Given the description of an element on the screen output the (x, y) to click on. 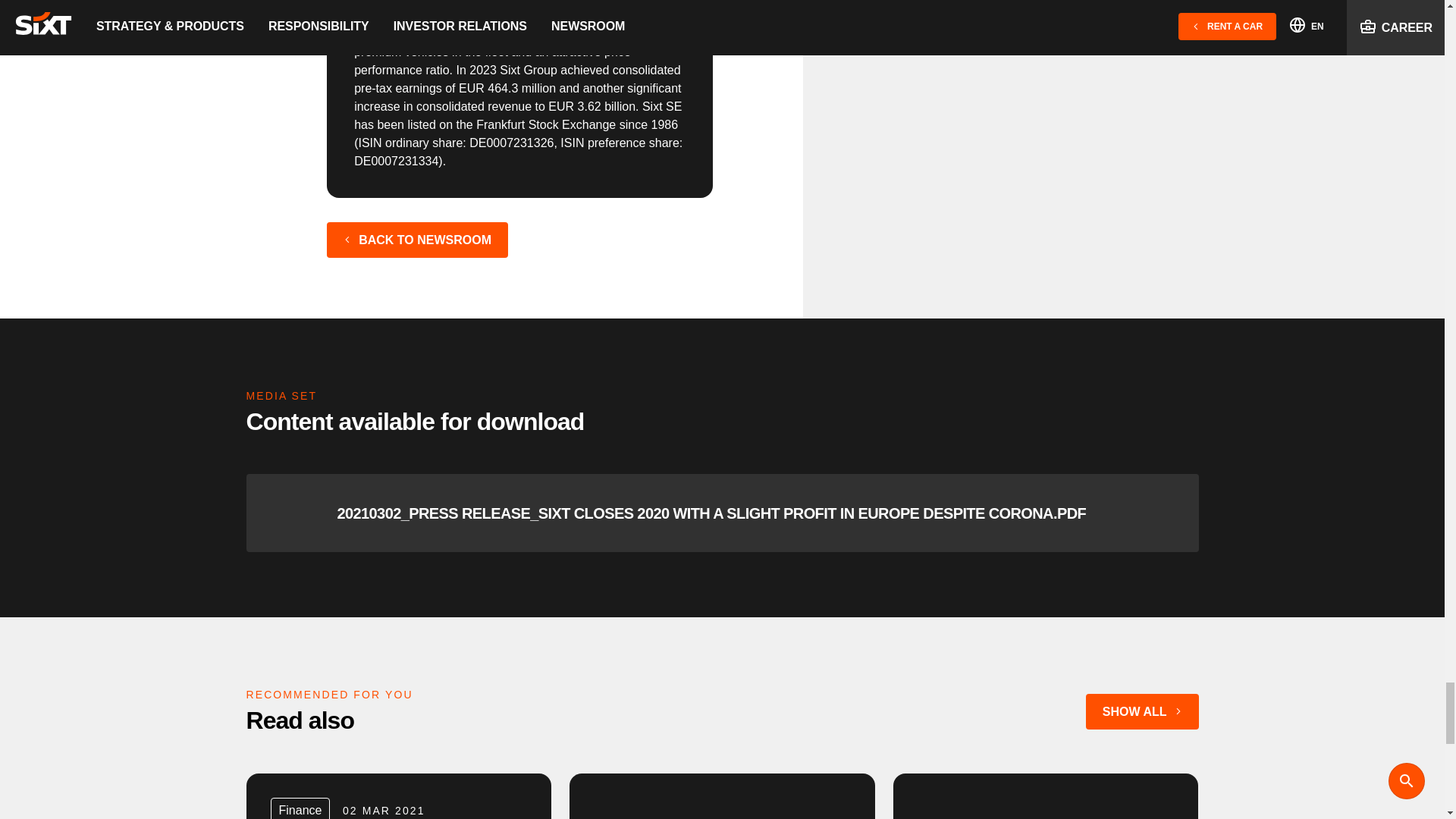
SHOW ALL (1142, 711)
BACK TO NEWSROOM (417, 239)
